Given the description of an element on the screen output the (x, y) to click on. 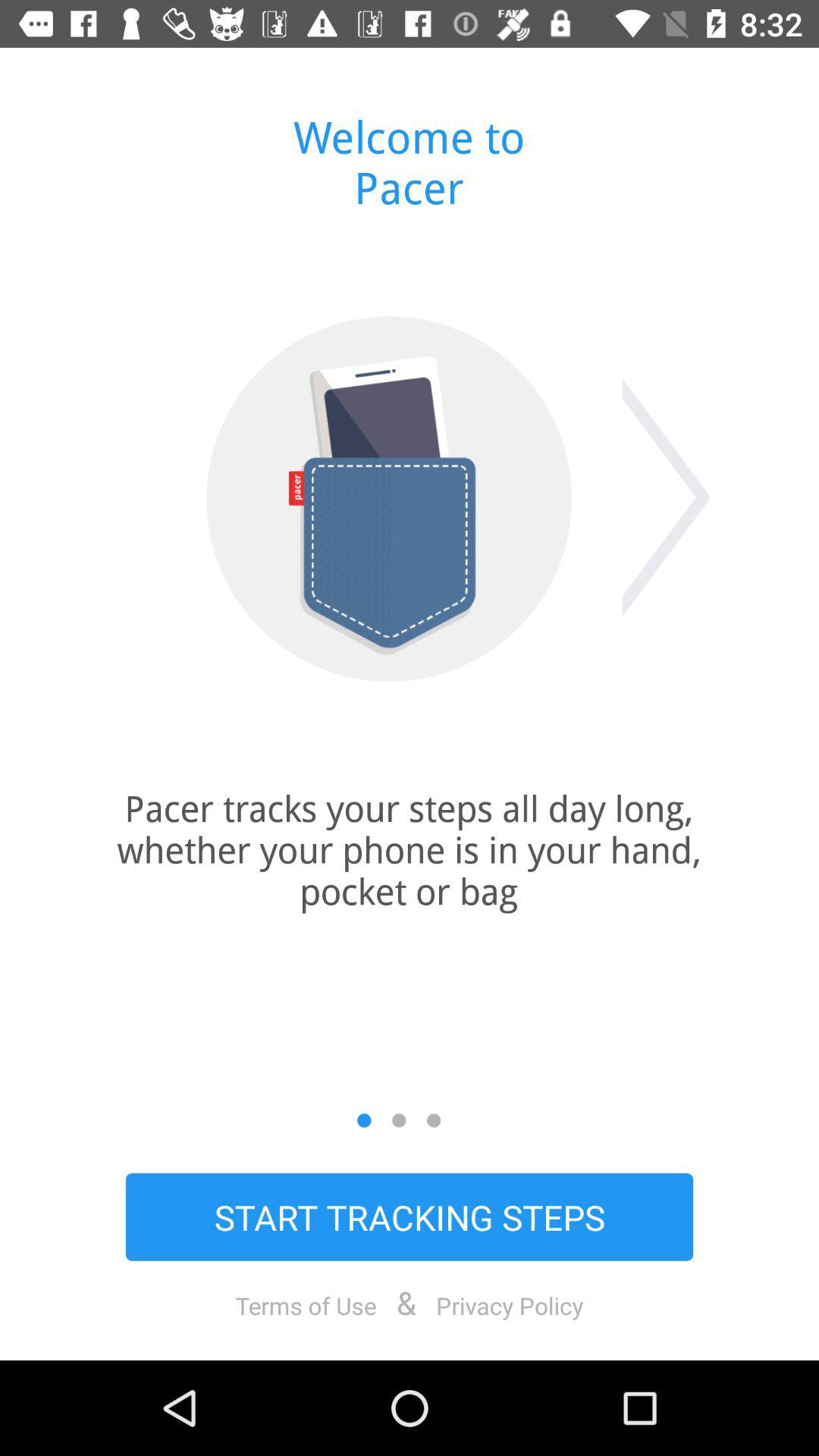
turn on the item to the left of & (305, 1305)
